Given the description of an element on the screen output the (x, y) to click on. 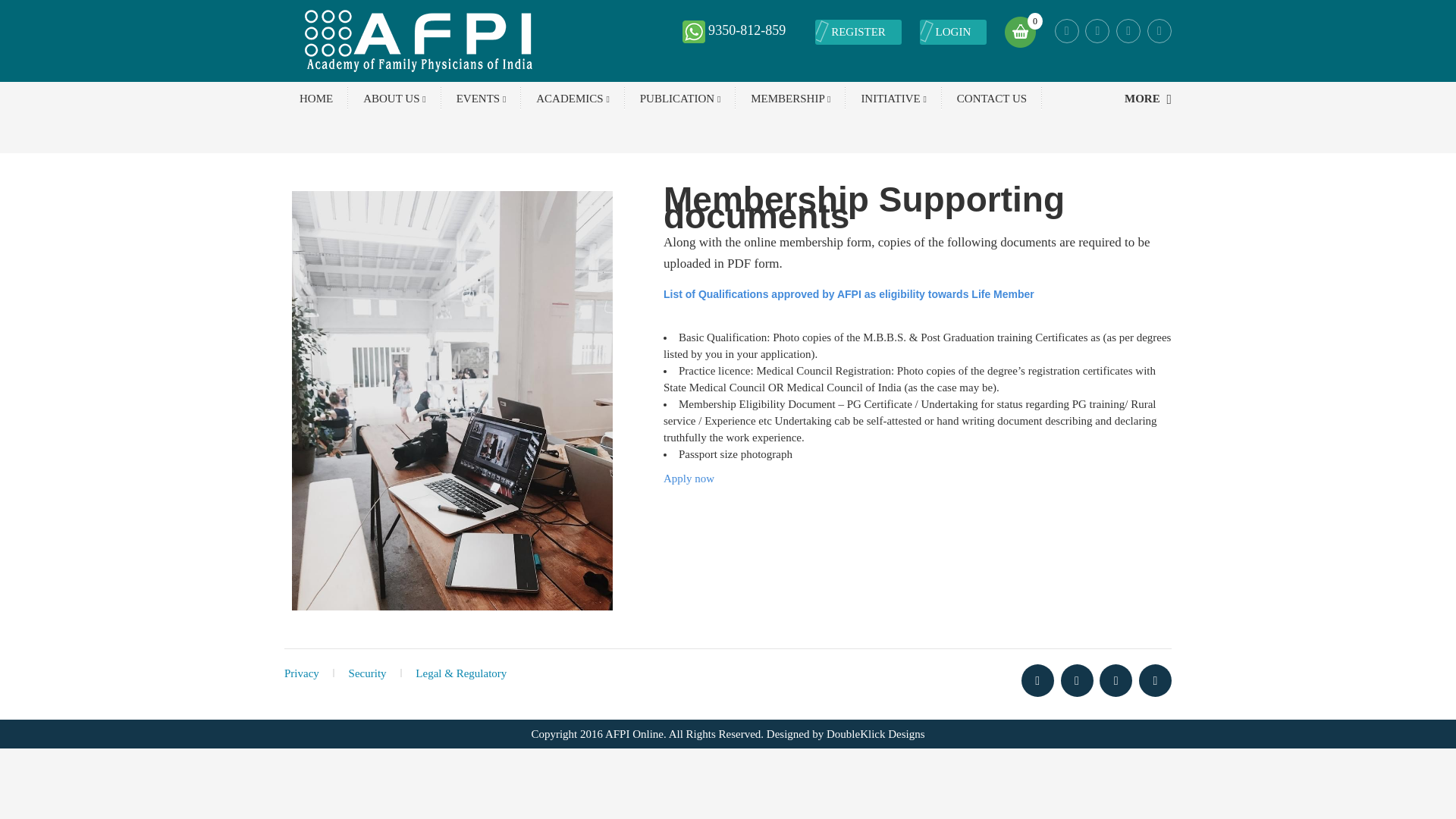
0 (1019, 30)
LOGIN (953, 32)
9350-812-859 (746, 29)
EVENTS (481, 97)
REGISTER (858, 32)
ABOUT US (394, 97)
HOME (315, 97)
